Given the description of an element on the screen output the (x, y) to click on. 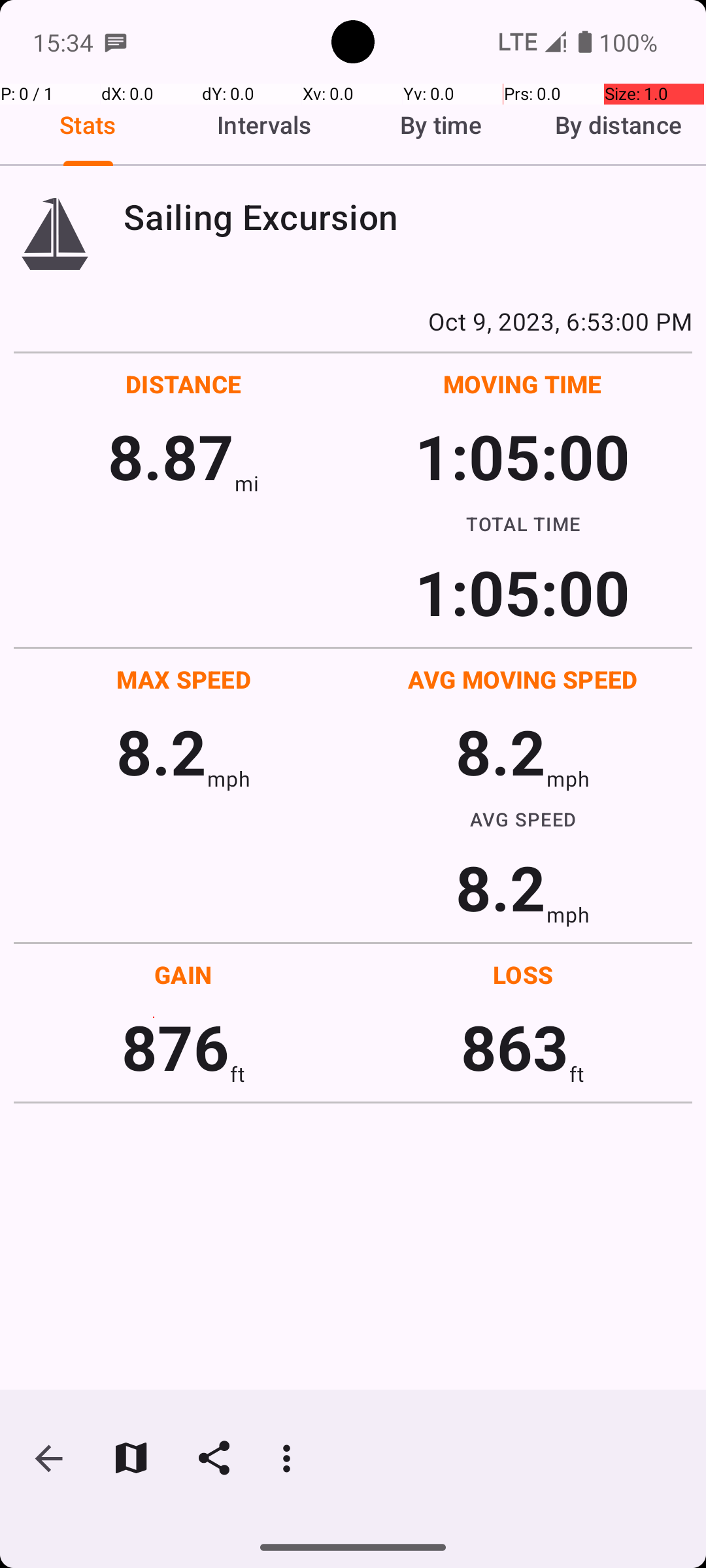
Sailing Excursion Element type: android.widget.TextView (407, 216)
Oct 9, 2023, 6:53:00 PM Element type: android.widget.TextView (352, 320)
8.87 Element type: android.widget.TextView (170, 455)
1:05:00 Element type: android.widget.TextView (522, 455)
8.2 Element type: android.widget.TextView (161, 750)
876 Element type: android.widget.TextView (175, 1045)
863 Element type: android.widget.TextView (514, 1045)
